Given the description of an element on the screen output the (x, y) to click on. 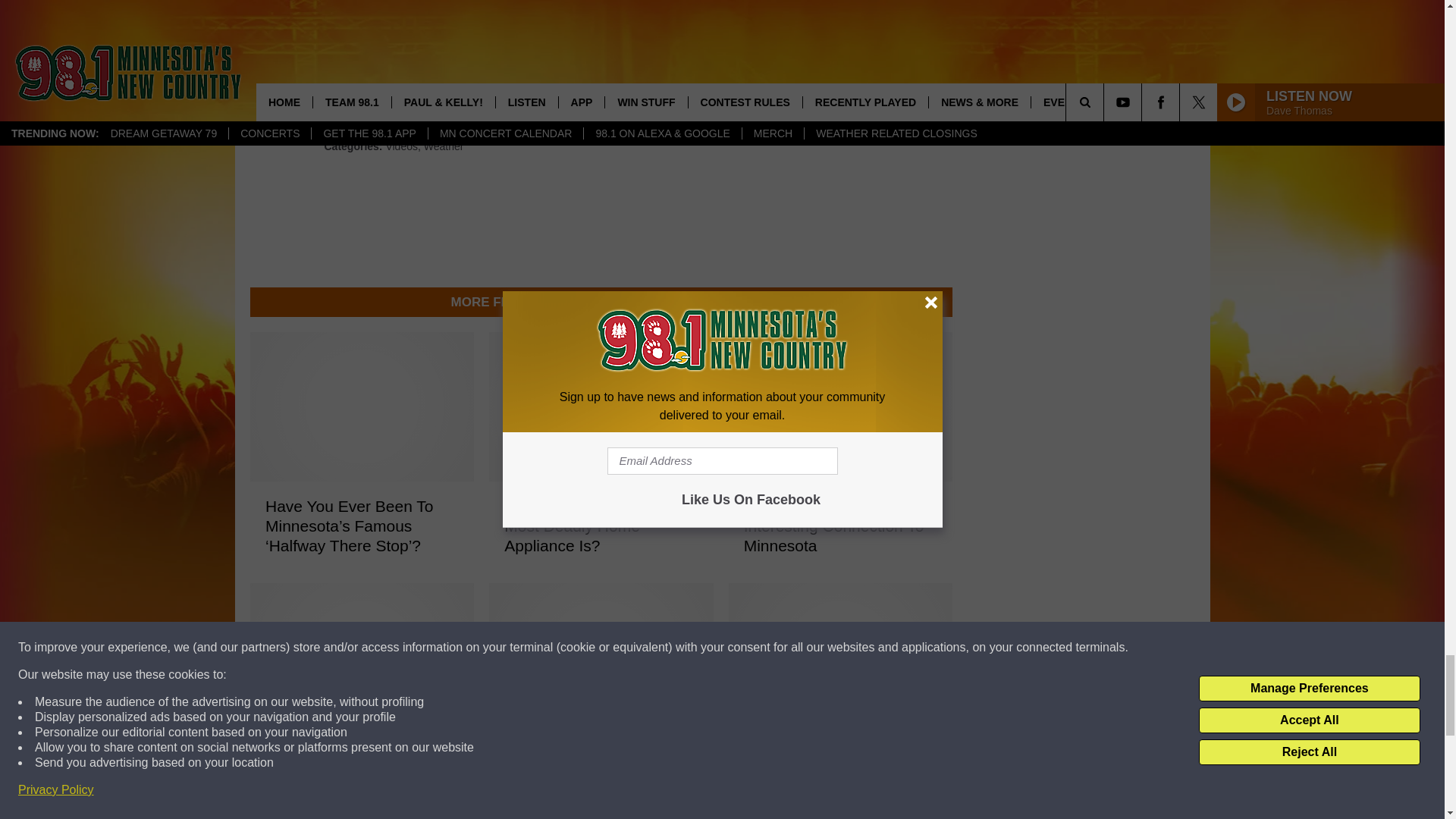
Email Address (600, 47)
